Given the description of an element on the screen output the (x, y) to click on. 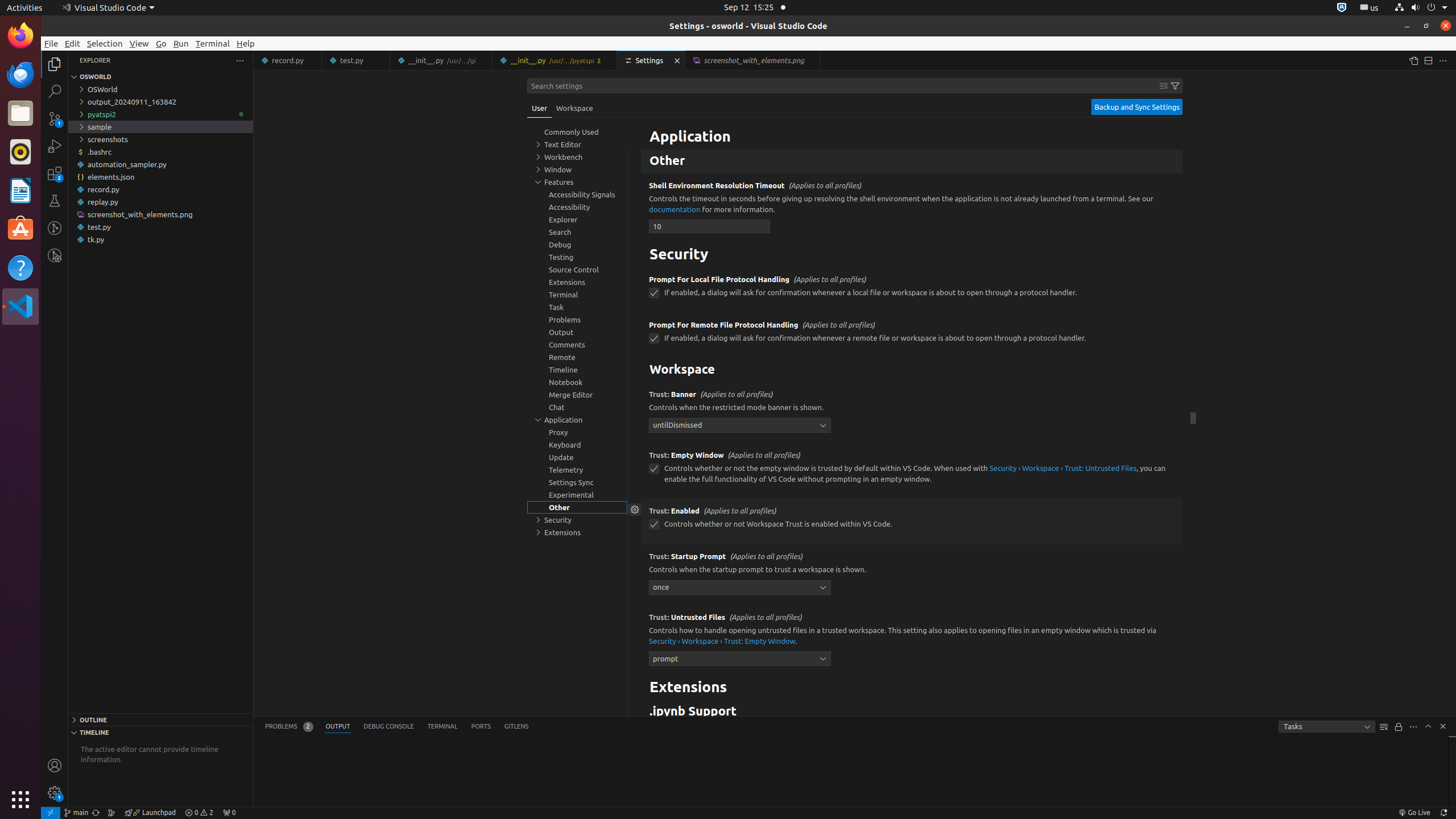
Application, group Element type: tree-item (577, 419)
security.workspace.trust.enabled Element type: check-box (653, 524)
sample Element type: tree-item (160, 126)
screenshot_with_elements.png Element type: tree-item (160, 214)
